Given the description of an element on the screen output the (x, y) to click on. 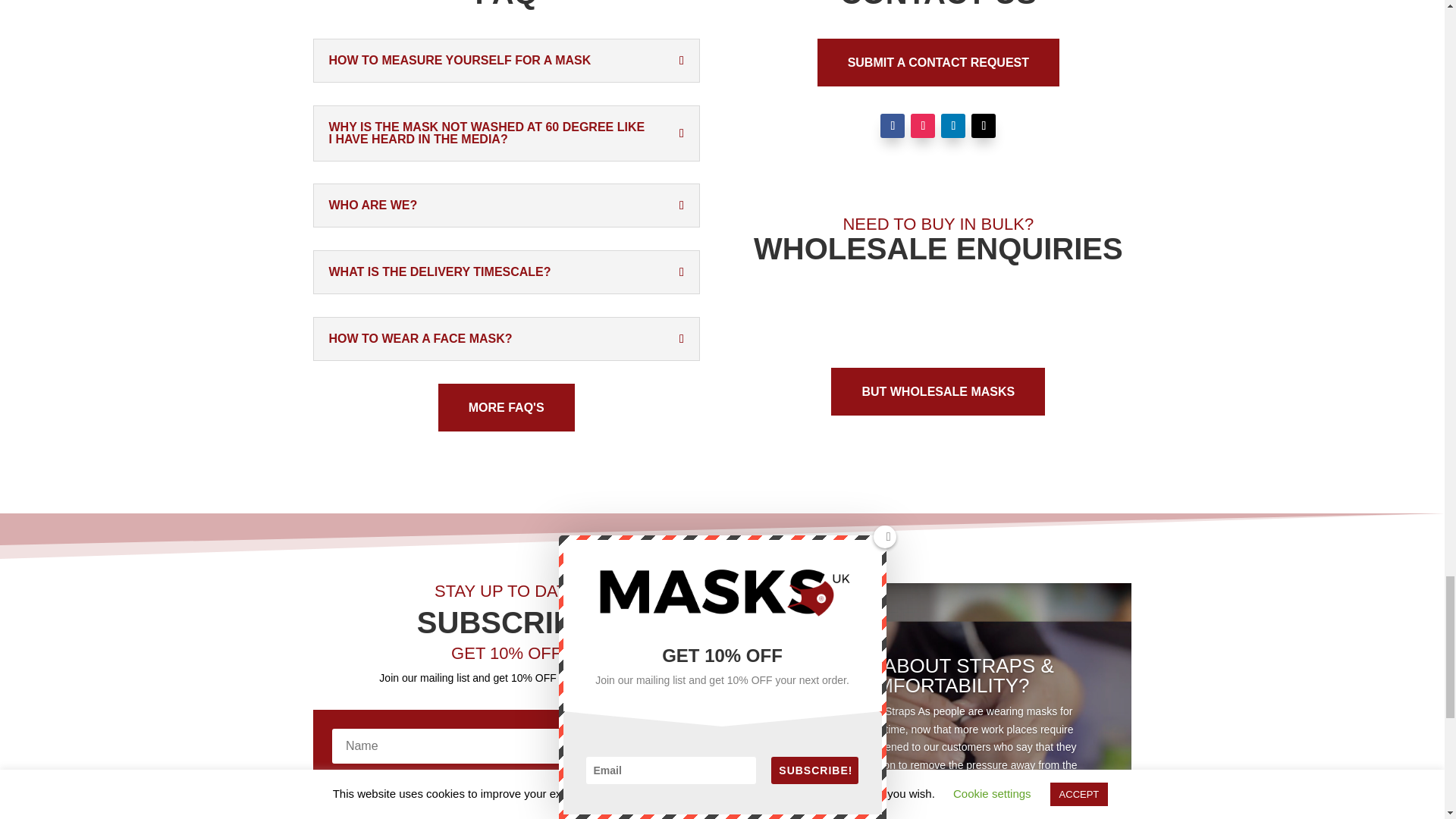
MORE FAQ'S (506, 407)
SUBMIT A CONTACT REQUEST (937, 62)
Follow on Facebook (892, 125)
MasksUK Wholesale (937, 318)
Follow on Instagram (922, 125)
Follow on X (983, 125)
Follow on LinkedIn (952, 125)
